Given the description of an element on the screen output the (x, y) to click on. 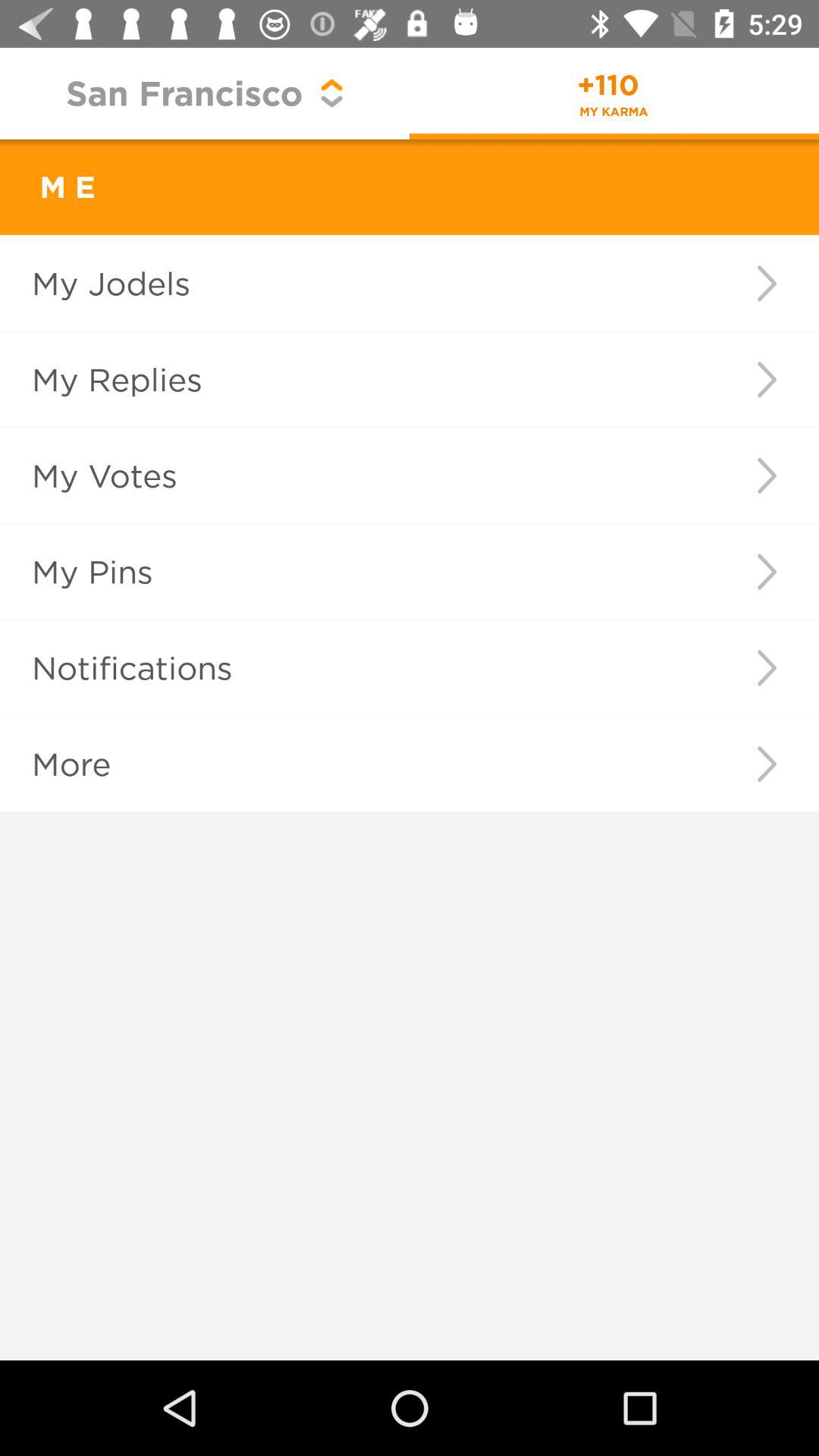
select icon next to notifications (766, 667)
